Given the description of an element on the screen output the (x, y) to click on. 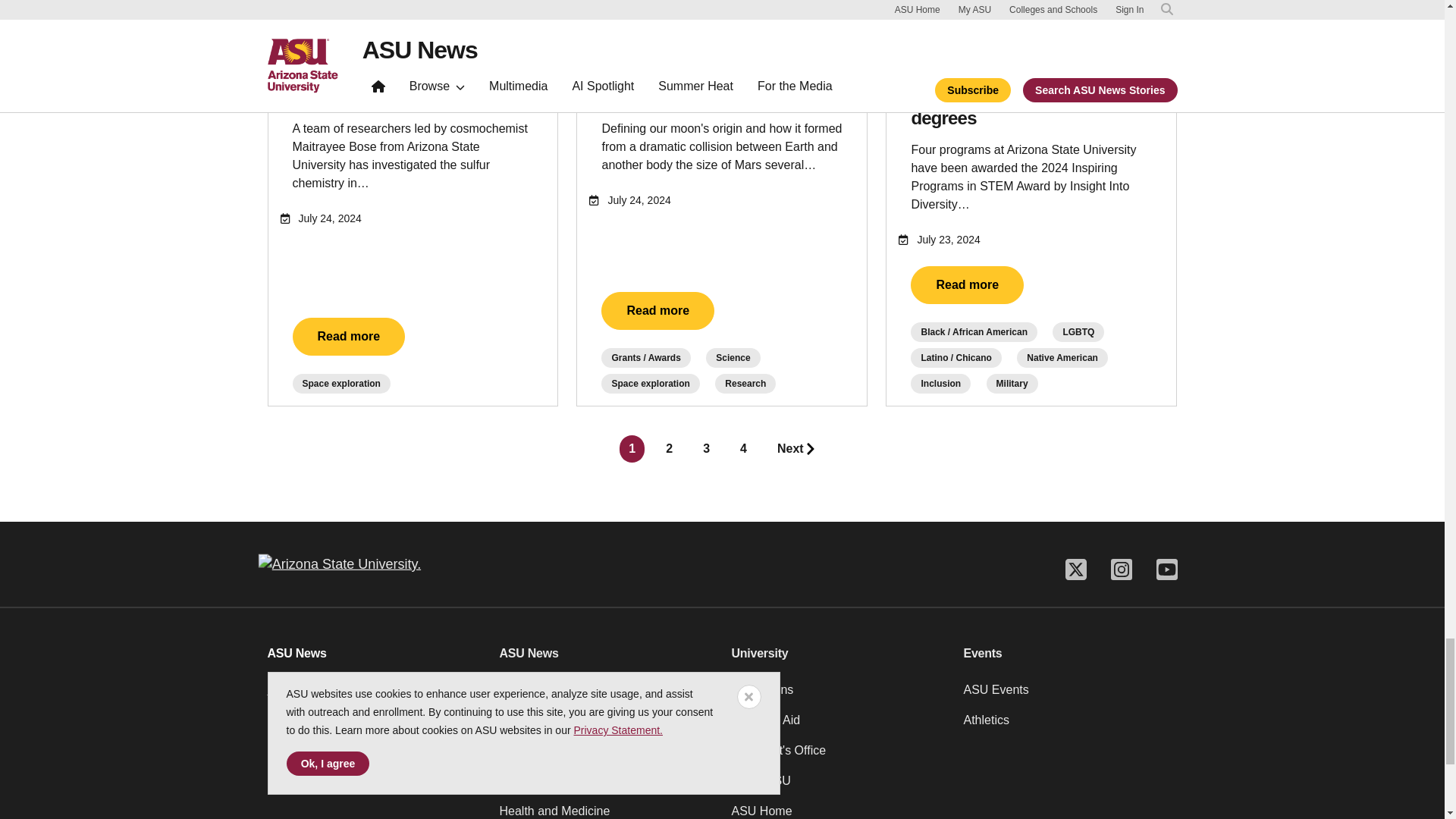
Go to last page (796, 448)
Go to page 3 (706, 448)
Current page (632, 448)
Go to page 4 (742, 448)
Go to page 2 (668, 448)
